Given the description of an element on the screen output the (x, y) to click on. 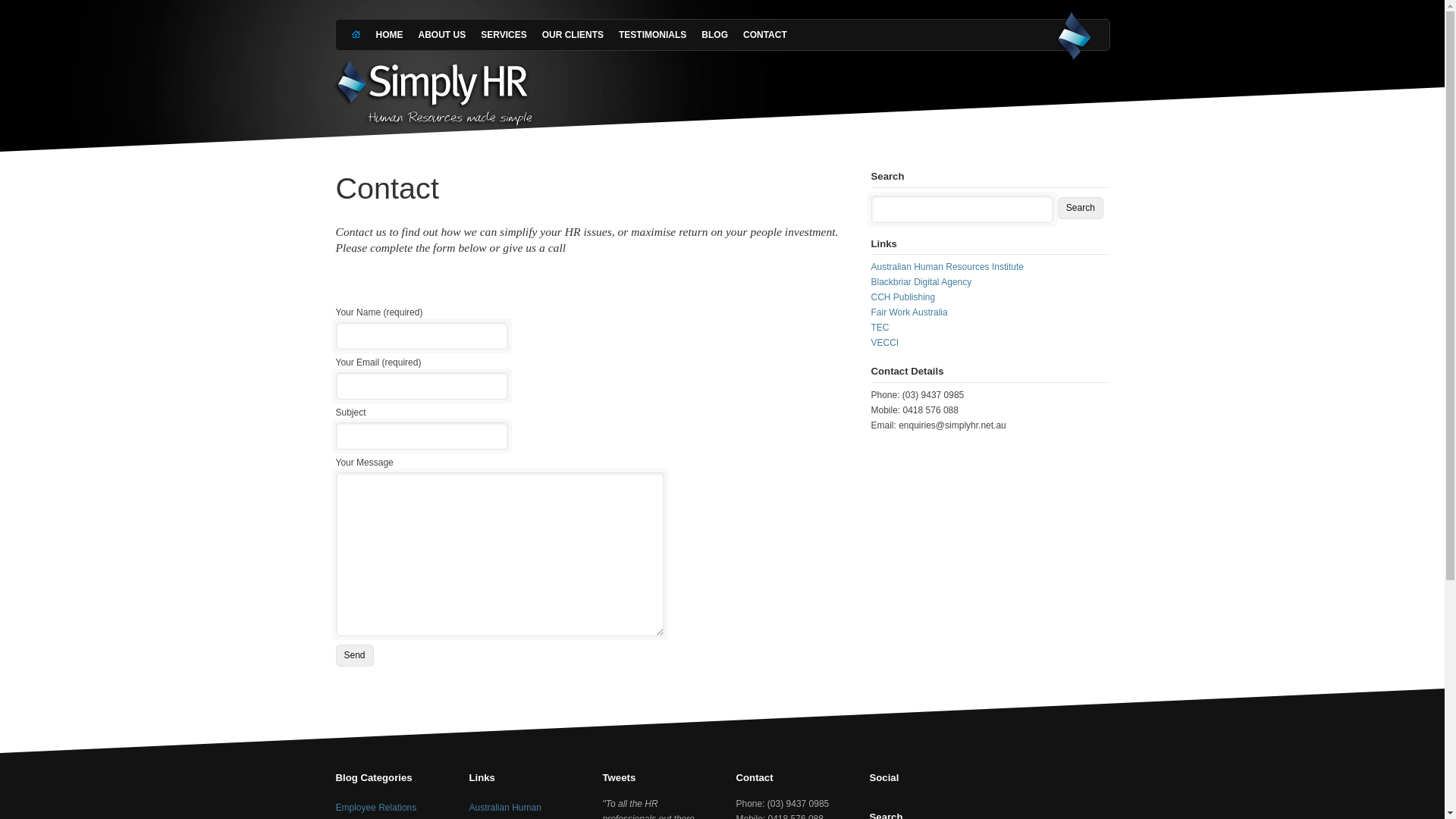
ABOUT US Element type: text (442, 34)
TESTIMONIALS Element type: text (652, 34)
Simply HR Element type: hover (1073, 37)
Australian Human Resources Institute Element type: text (946, 266)
Search Element type: text (1080, 208)
SERVICES Element type: text (503, 34)
Fair Work Australia Element type: text (908, 312)
OUR CLIENTS Element type: text (572, 34)
CONTACT Element type: text (765, 34)
HOME Element type: text (389, 34)
TEC Element type: text (879, 327)
Employee Relations Element type: text (375, 807)
CCH Publishing Element type: text (902, 296)
VECCI Element type: text (884, 342)
Send Element type: text (354, 655)
Blackbriar Digital Agency Element type: text (920, 281)
BLOG Element type: text (714, 34)
